Given the description of an element on the screen output the (x, y) to click on. 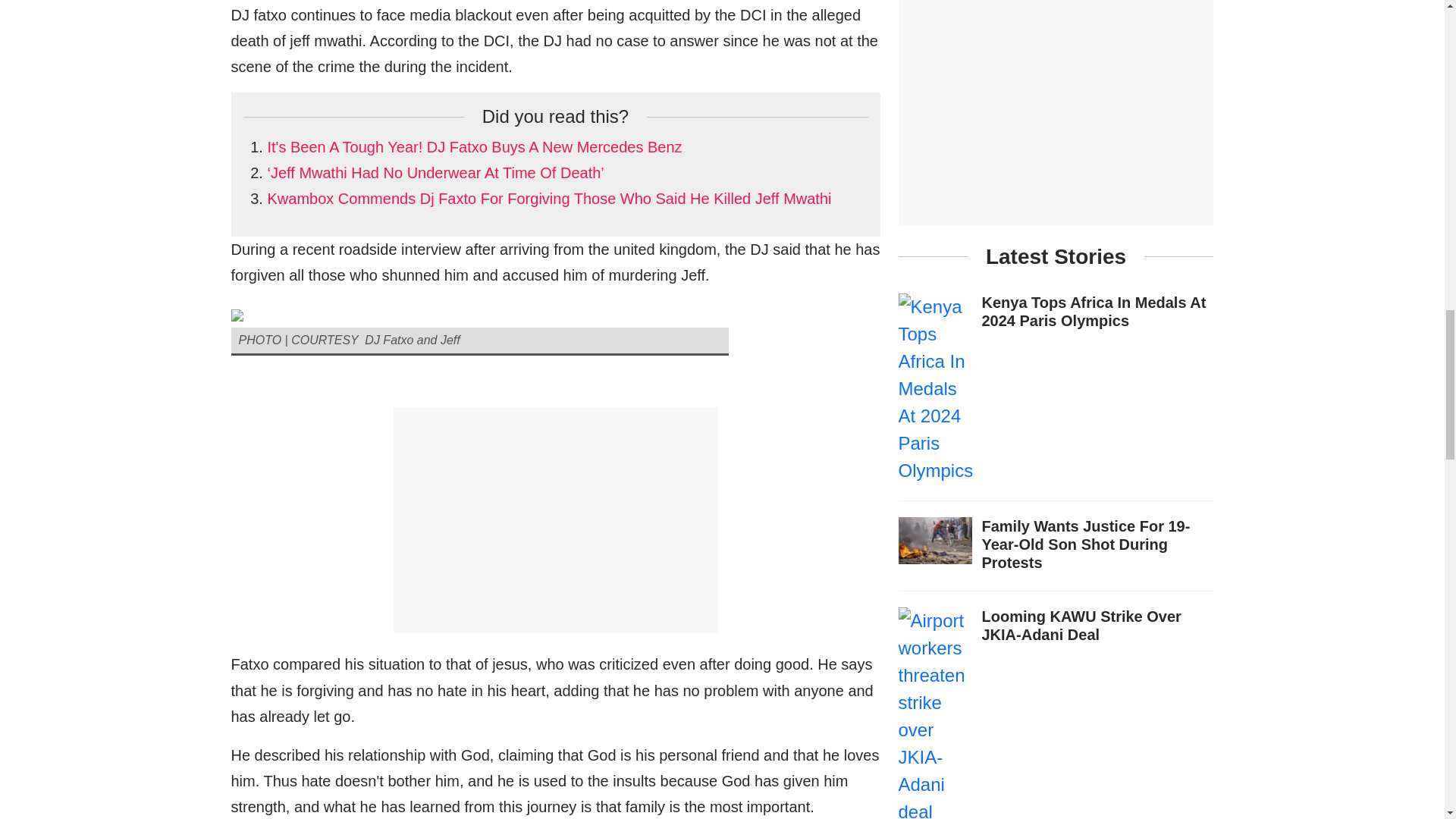
It's Been A Tough Year! DJ Fatxo Buys A New Mercedes Benz (473, 146)
It's Been A Tough Year! DJ Fatxo Buys A New Mercedes Benz (473, 146)
